Given the description of an element on the screen output the (x, y) to click on. 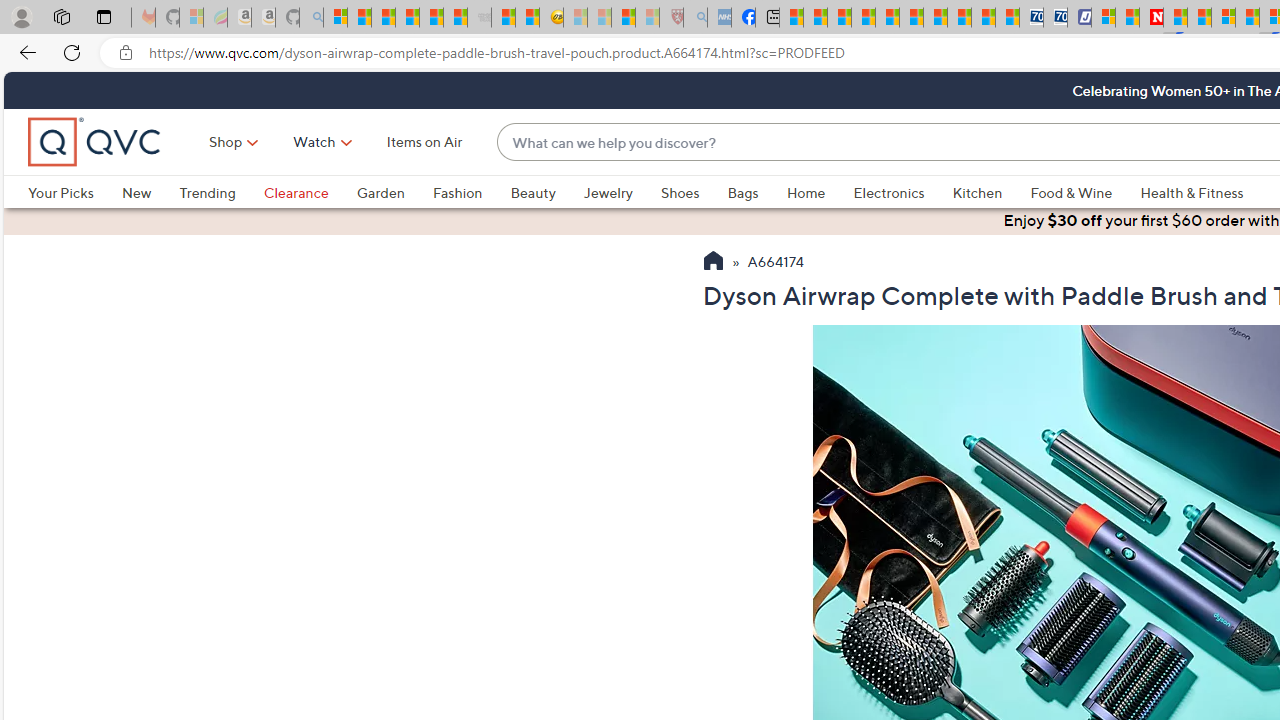
Shoes (680, 192)
Fashion (457, 192)
QVC home (95, 141)
Latest Politics News & Archive | Newsweek.com (1151, 17)
Electronics (888, 192)
Bags (743, 192)
Your Picks (60, 192)
New (136, 192)
Beauty (546, 192)
Bags (757, 192)
